Given the description of an element on the screen output the (x, y) to click on. 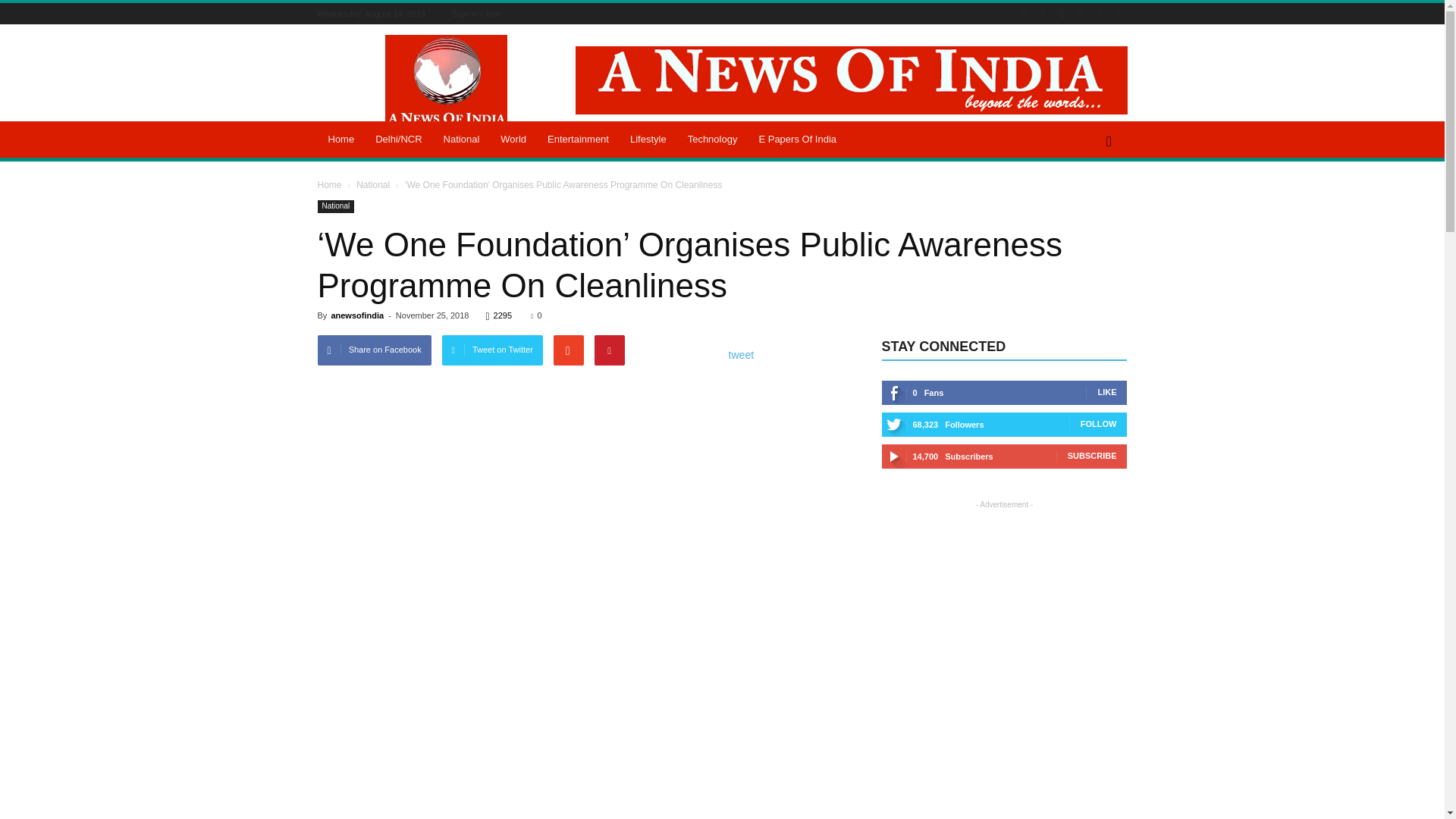
National (461, 139)
Entertainment (578, 139)
Home (341, 139)
View all posts in National (373, 184)
World (513, 139)
